Given the description of an element on the screen output the (x, y) to click on. 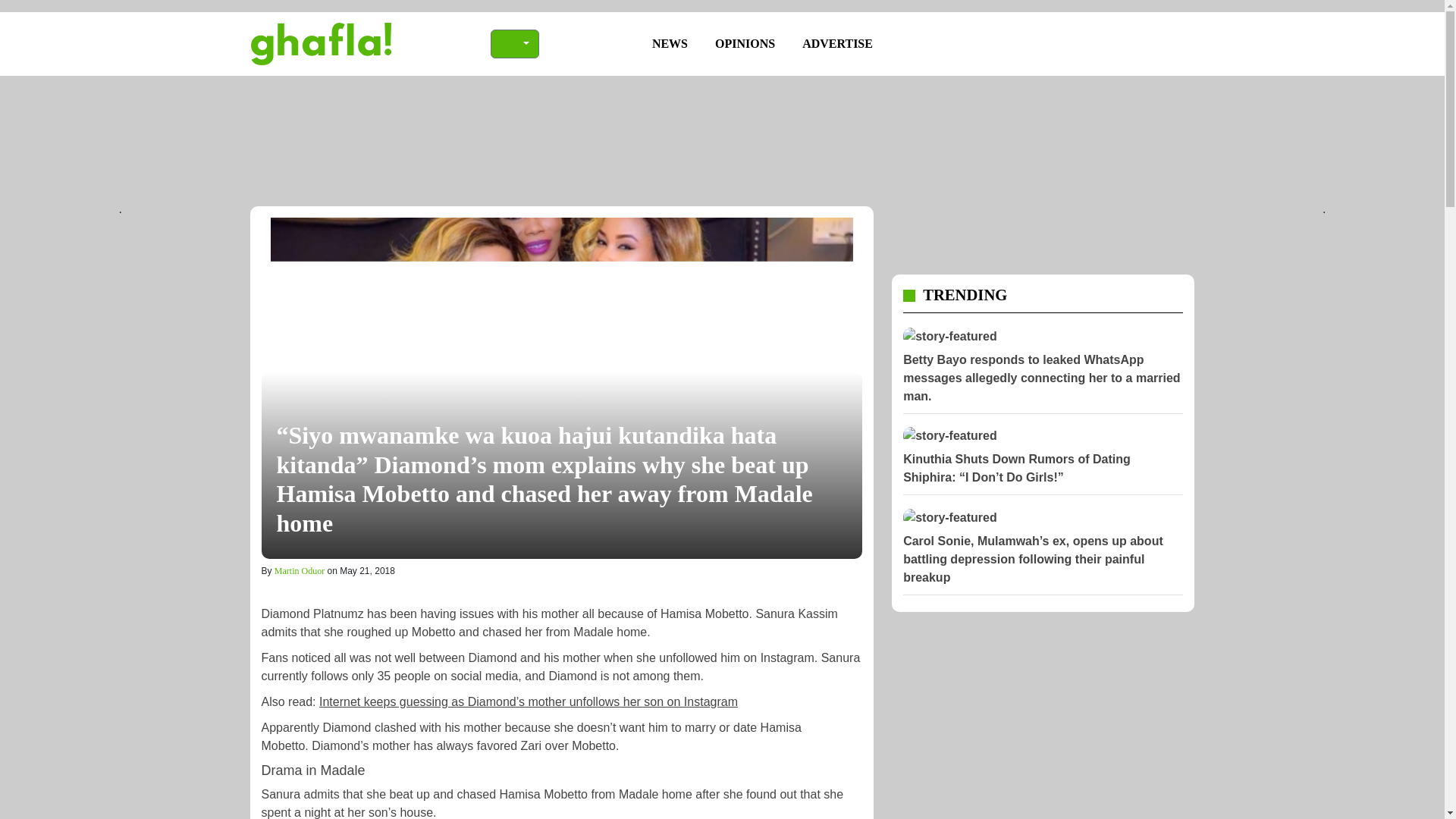
OPINIONS (744, 43)
ADVERTISE (837, 43)
Martin Oduor (299, 570)
NEWS (670, 43)
